Given the description of an element on the screen output the (x, y) to click on. 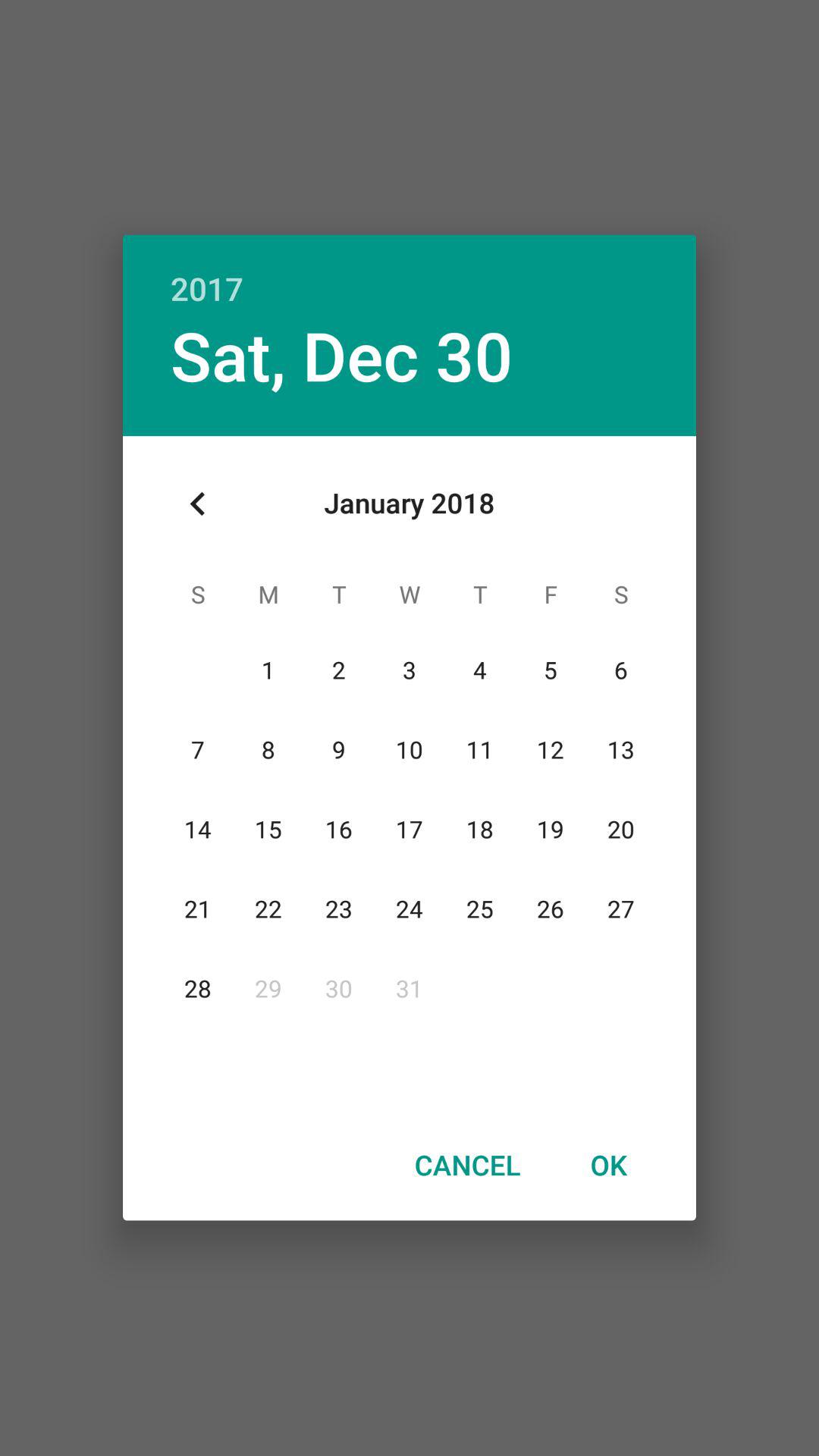
press icon below the 2017 item (341, 354)
